Given the description of an element on the screen output the (x, y) to click on. 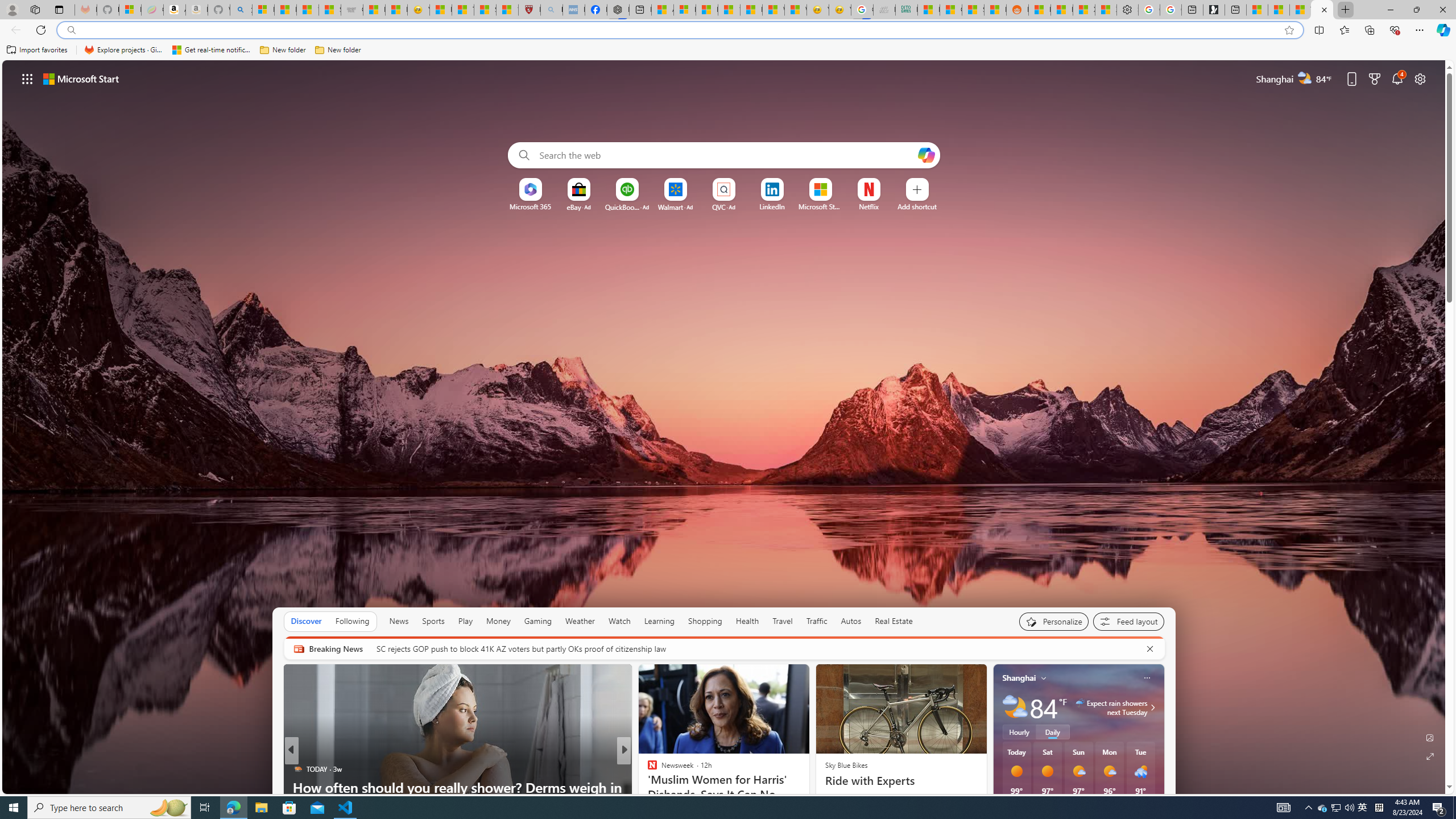
Traffic (816, 621)
Constative (647, 768)
 UPI News (647, 768)
Weather (579, 621)
Nordace - Nordace Siena Is Not An Ordinary Backpack (618, 9)
Shopping (705, 621)
